Given the description of an element on the screen output the (x, y) to click on. 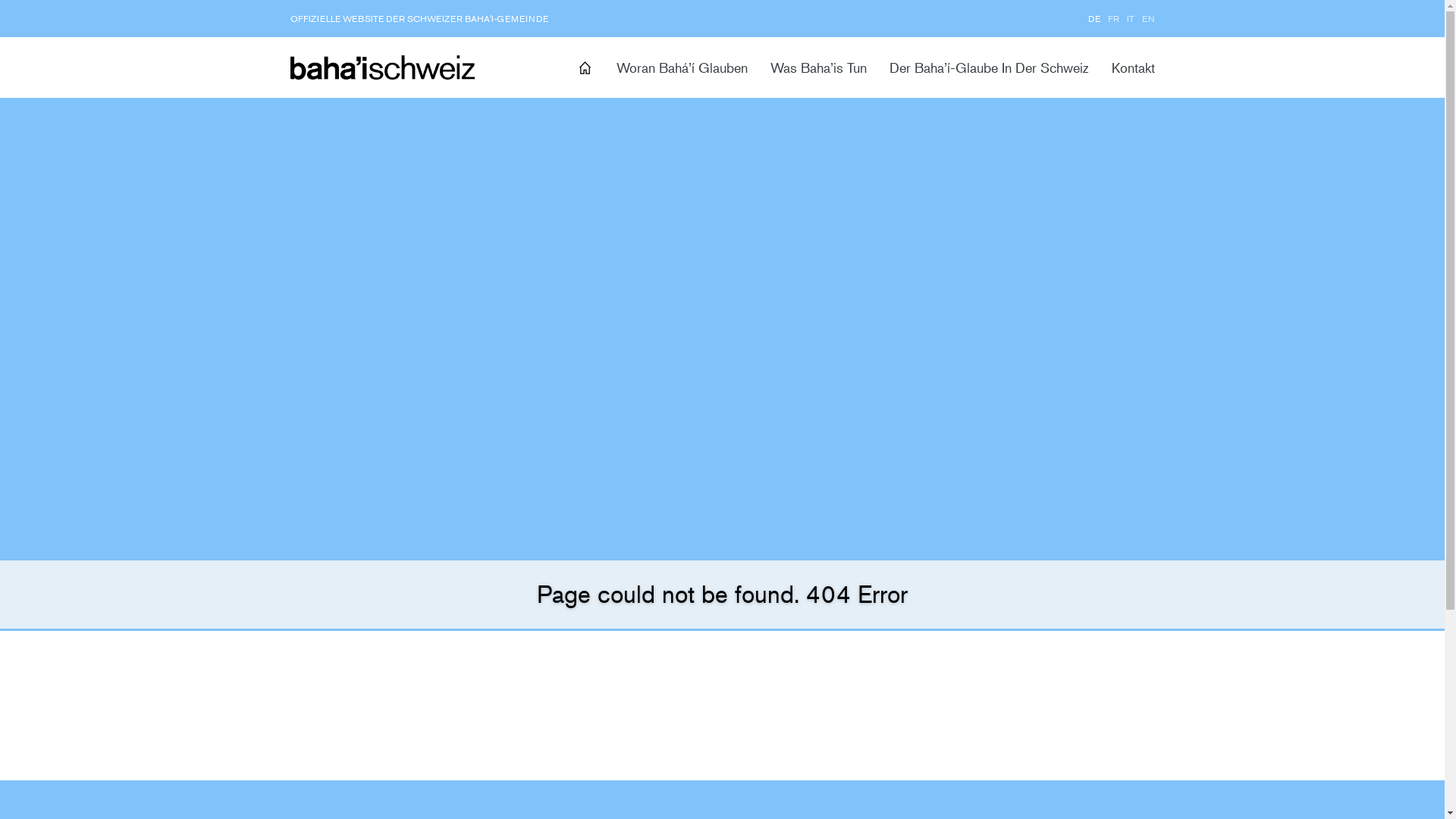
FR Element type: text (1112, 18)
IT Element type: text (1130, 18)
Kontakt Element type: text (1132, 67)
EN Element type: text (1148, 18)
